Given the description of an element on the screen output the (x, y) to click on. 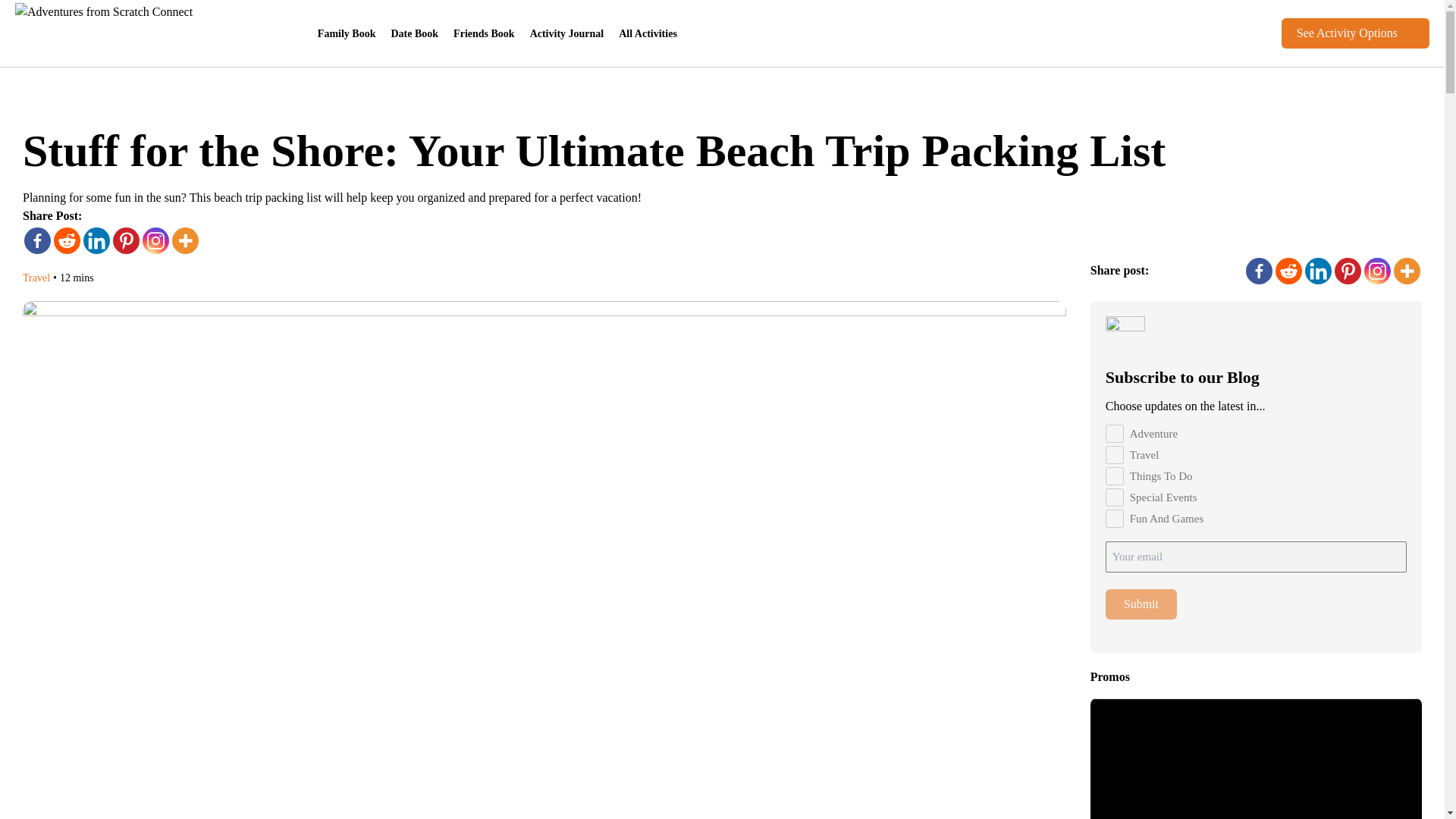
More (184, 240)
Adventure (1114, 434)
Submit (1140, 603)
Things To Do (1114, 475)
Pinterest (126, 240)
More (1407, 270)
Facebook (37, 240)
Facebook (1259, 270)
Submit (1140, 603)
Special Events (1114, 497)
